Given the description of an element on the screen output the (x, y) to click on. 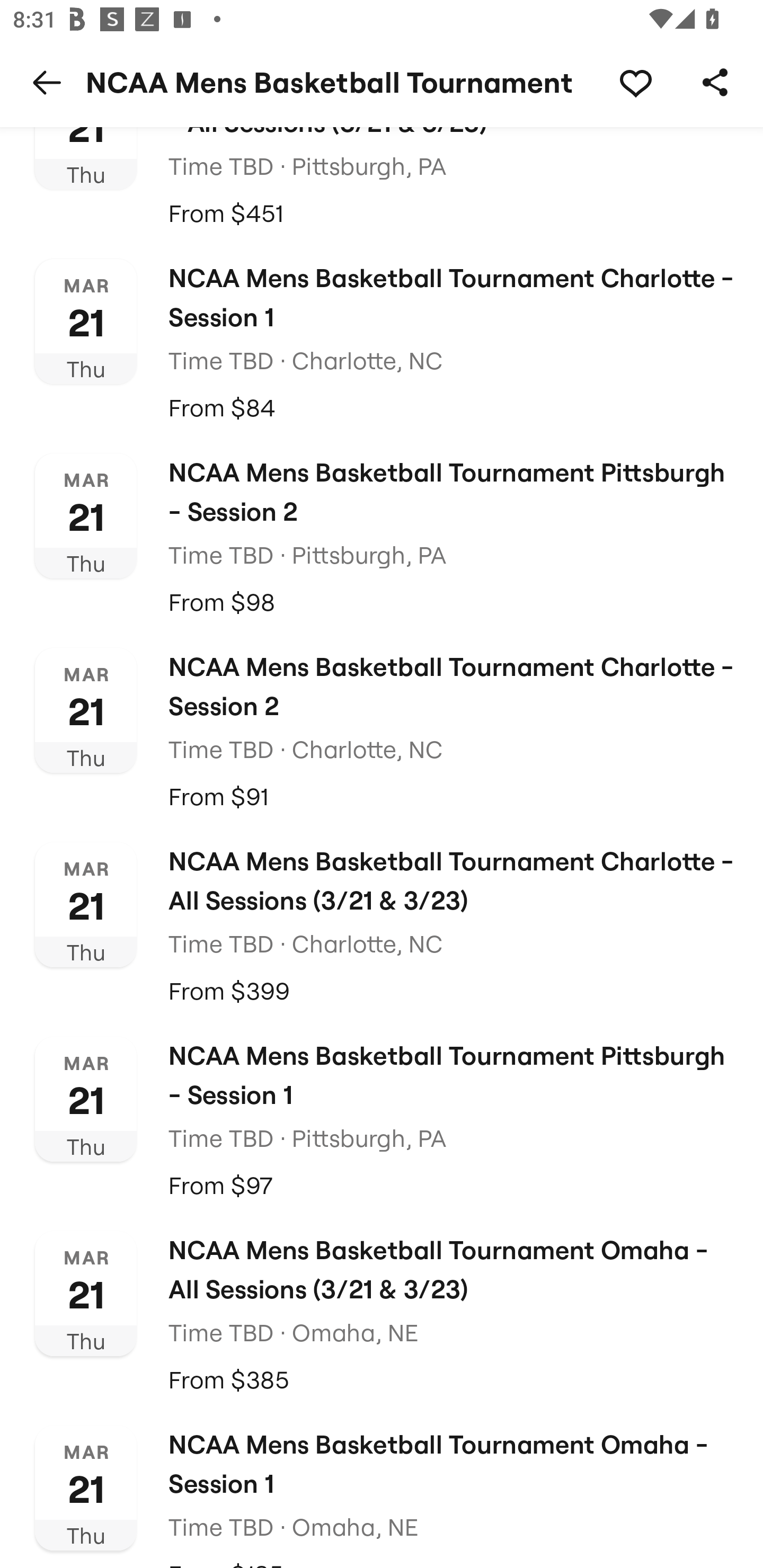
Back (47, 81)
Track this performer (635, 81)
Share this performer (715, 81)
